Given the description of an element on the screen output the (x, y) to click on. 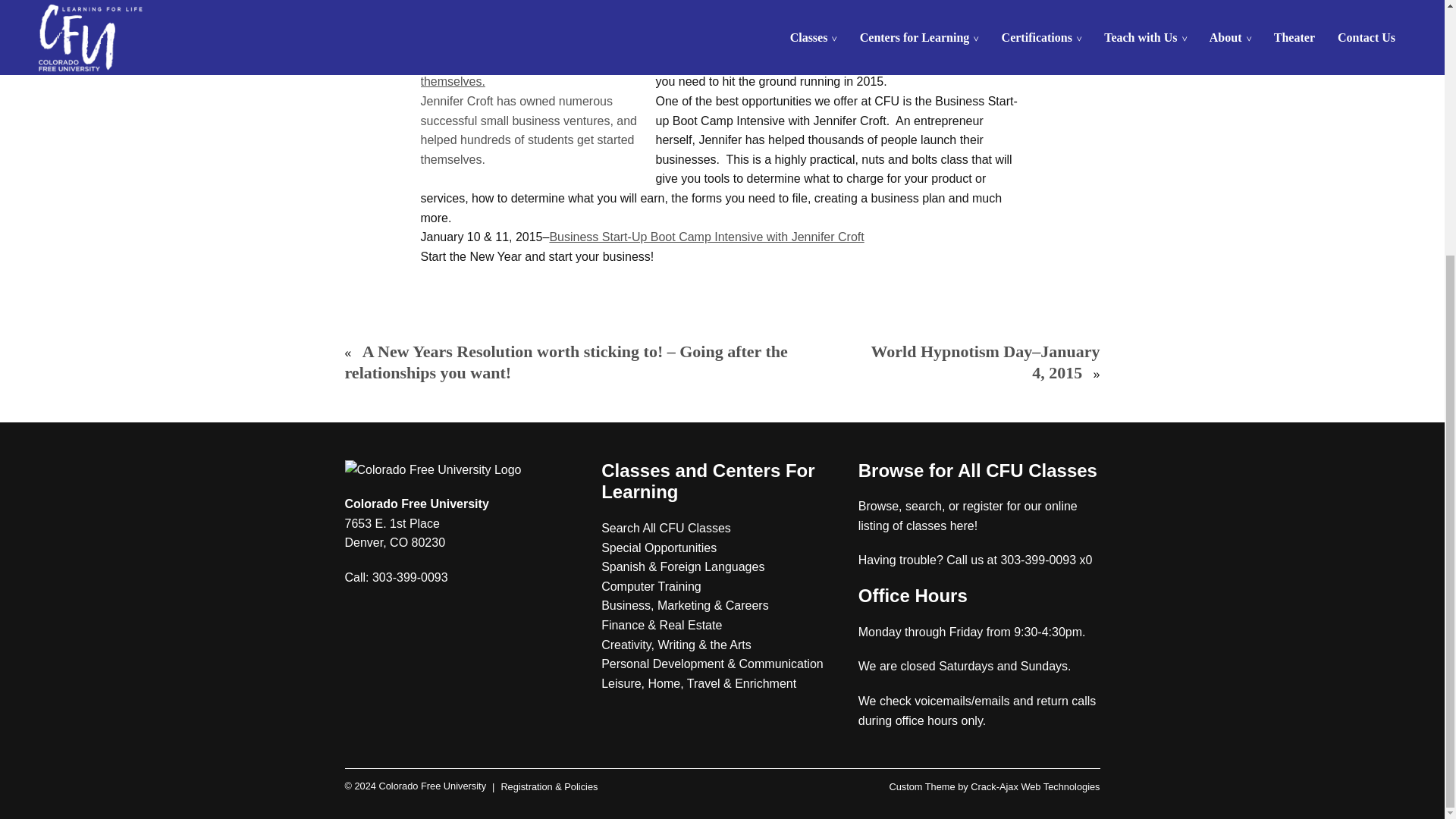
Custom Theme by Crack-Ajax Web Technologies (993, 786)
Colorado Free University (414, 786)
Business Start-Up Boot Camp Intensive with Jennifer Croft (705, 236)
